Given the description of an element on the screen output the (x, y) to click on. 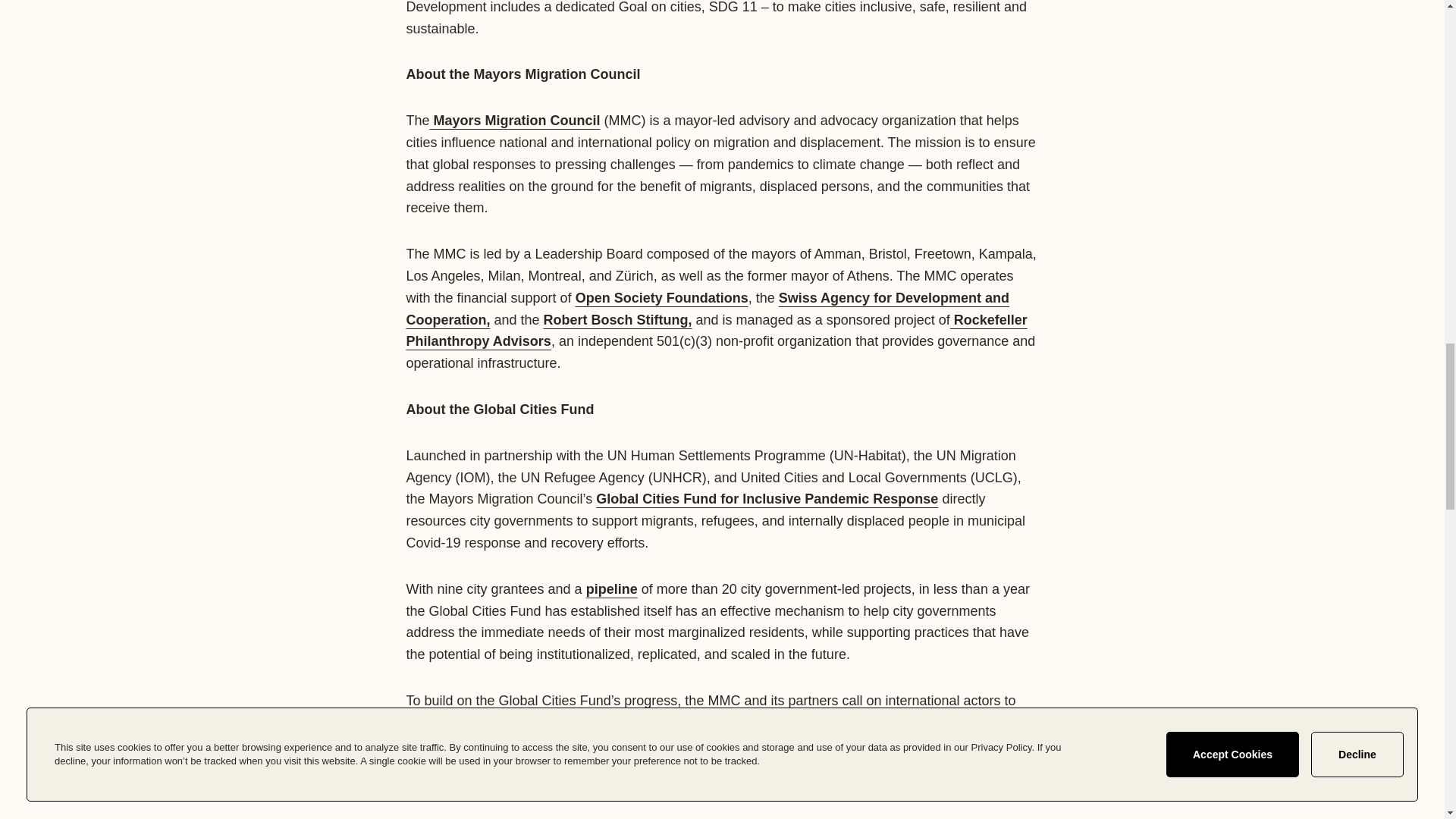
Open Society Foundations (661, 297)
Robert Bosch Stiftung, (618, 319)
 Mayors Migration Council (514, 120)
 Rockefeller Philanthropy Advisors (716, 330)
Swiss Agency for Development and Cooperation, (708, 308)
